Given the description of an element on the screen output the (x, y) to click on. 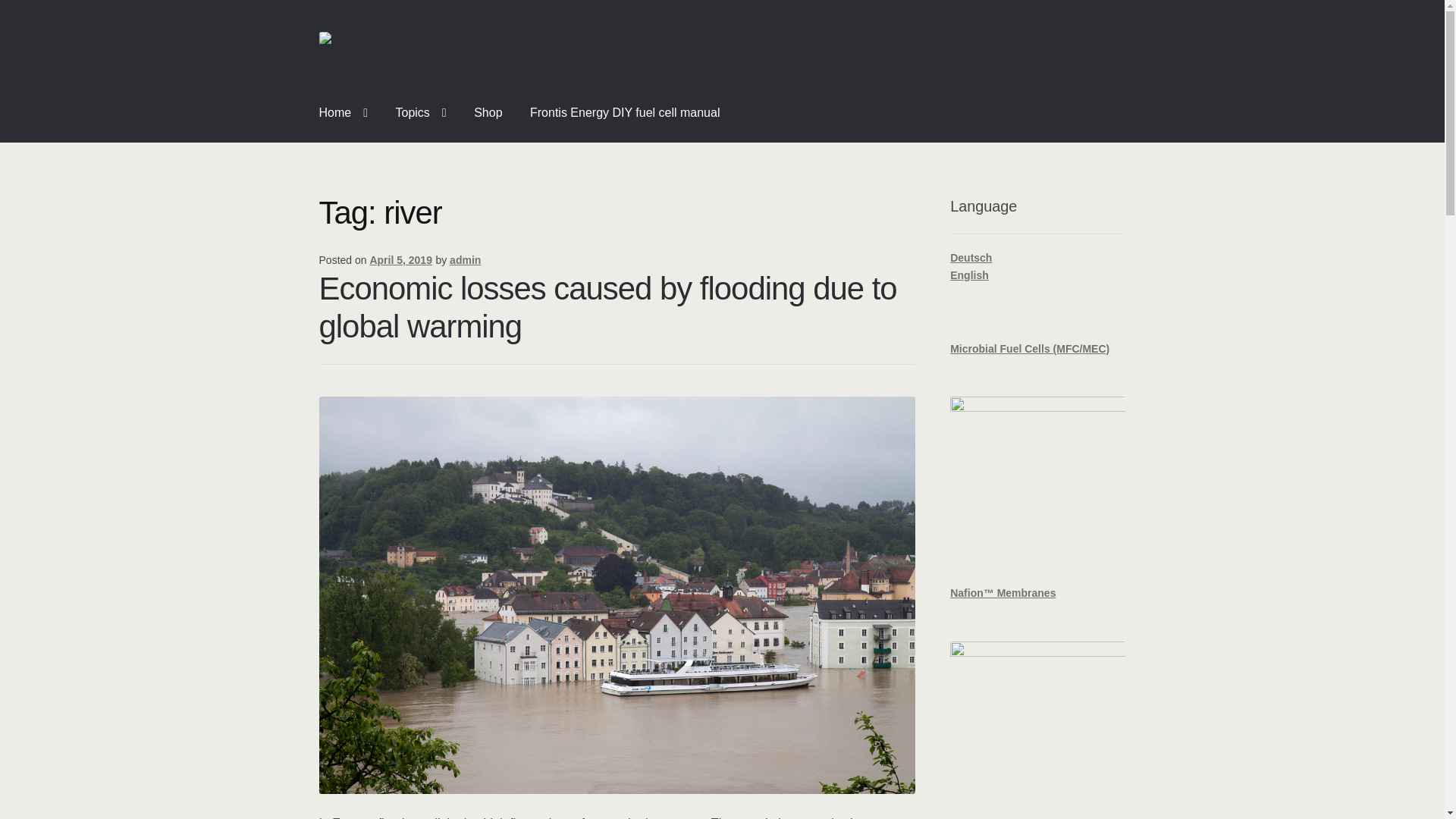
Topics (421, 112)
Nafion Membranes (1002, 592)
Frontis Energy DIY fuel cell manual (625, 112)
Home (343, 112)
English (969, 275)
Deutsch (970, 257)
Economic losses caused by flooding due to global warming (607, 307)
April 5, 2019 (400, 259)
admin (464, 259)
